Given the description of an element on the screen output the (x, y) to click on. 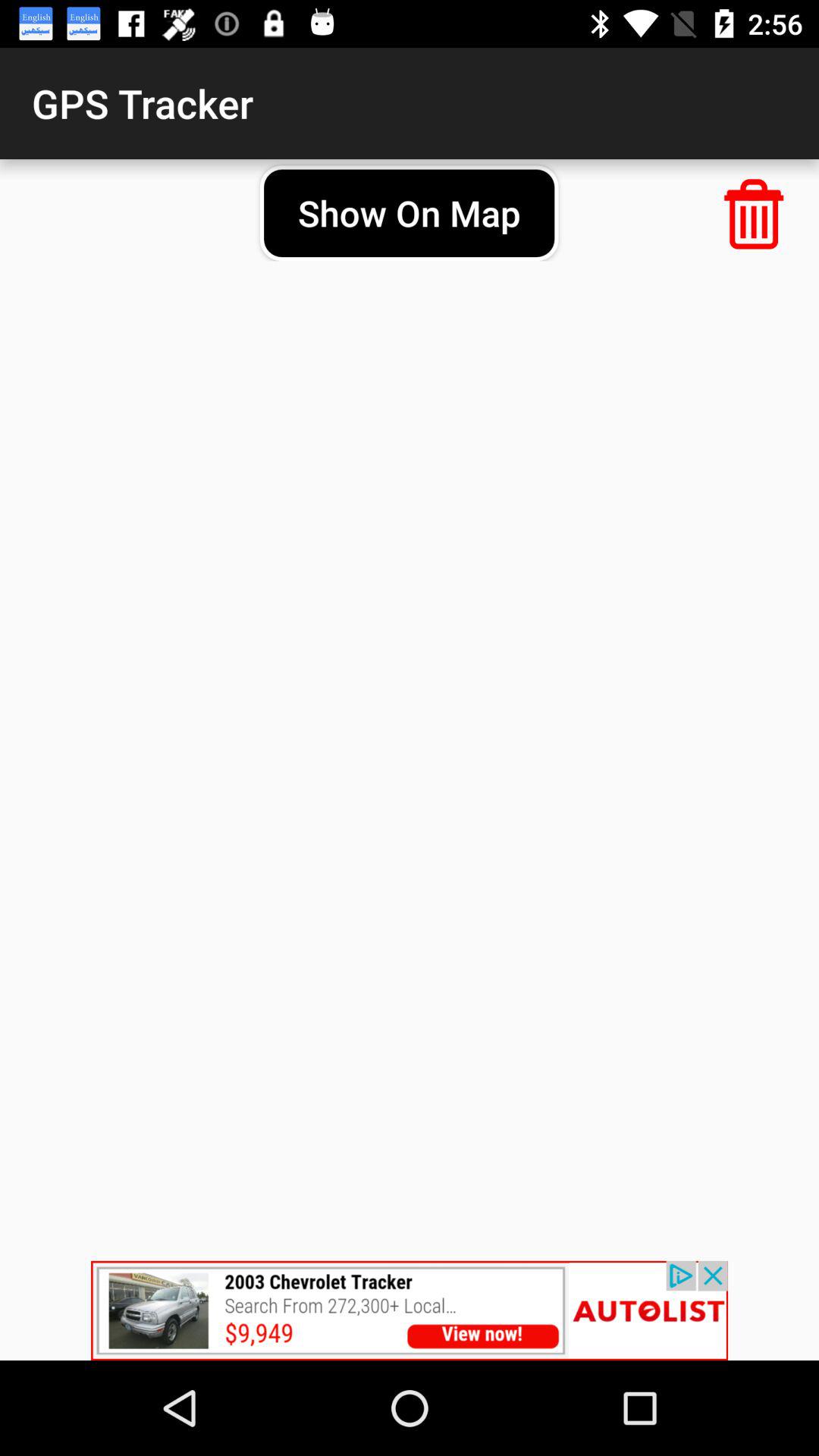
go to deleted option (753, 214)
